Given the description of an element on the screen output the (x, y) to click on. 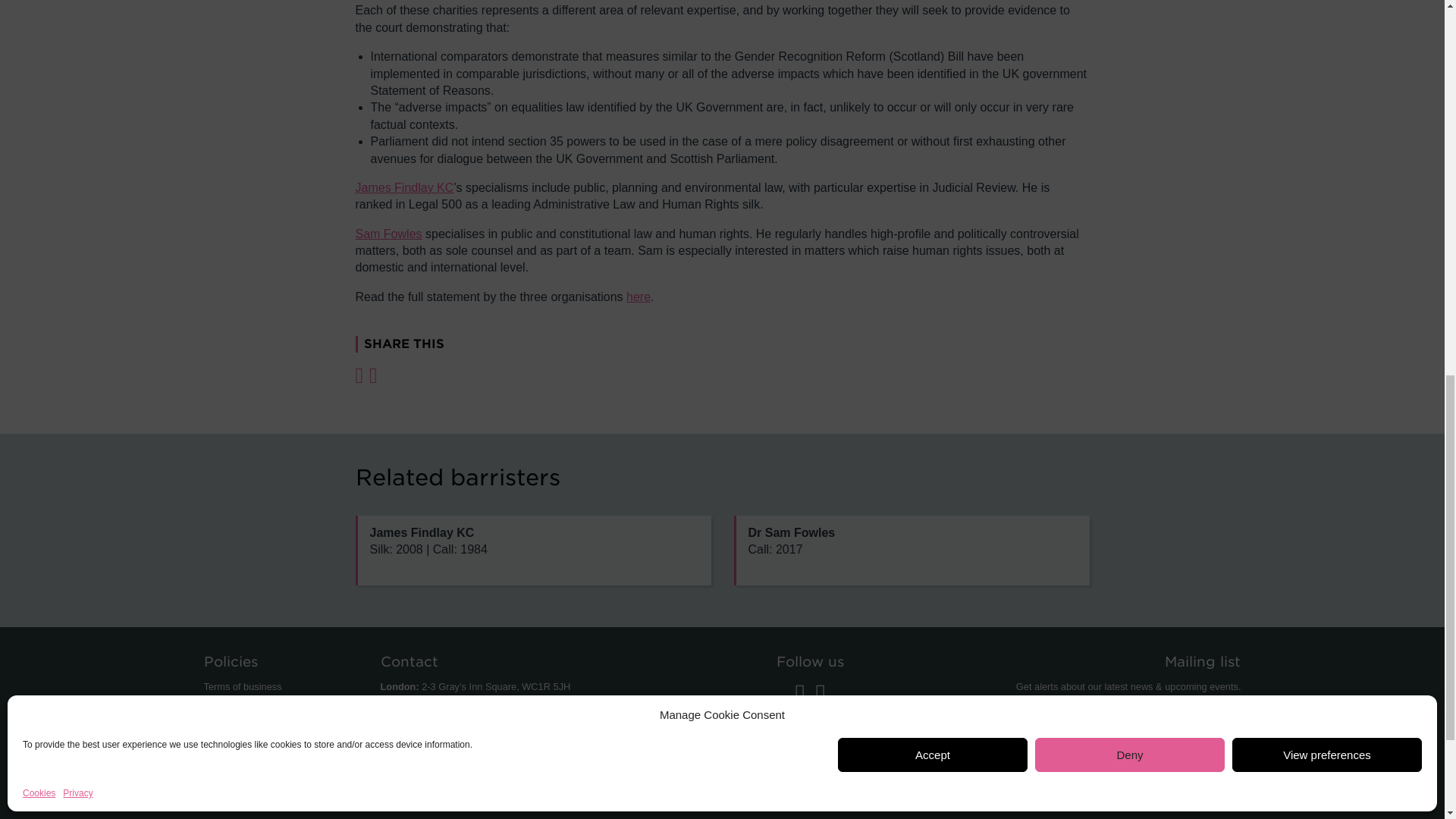
Dr Sam Fowles (911, 550)
James Findlay KC (532, 550)
